Given the description of an element on the screen output the (x, y) to click on. 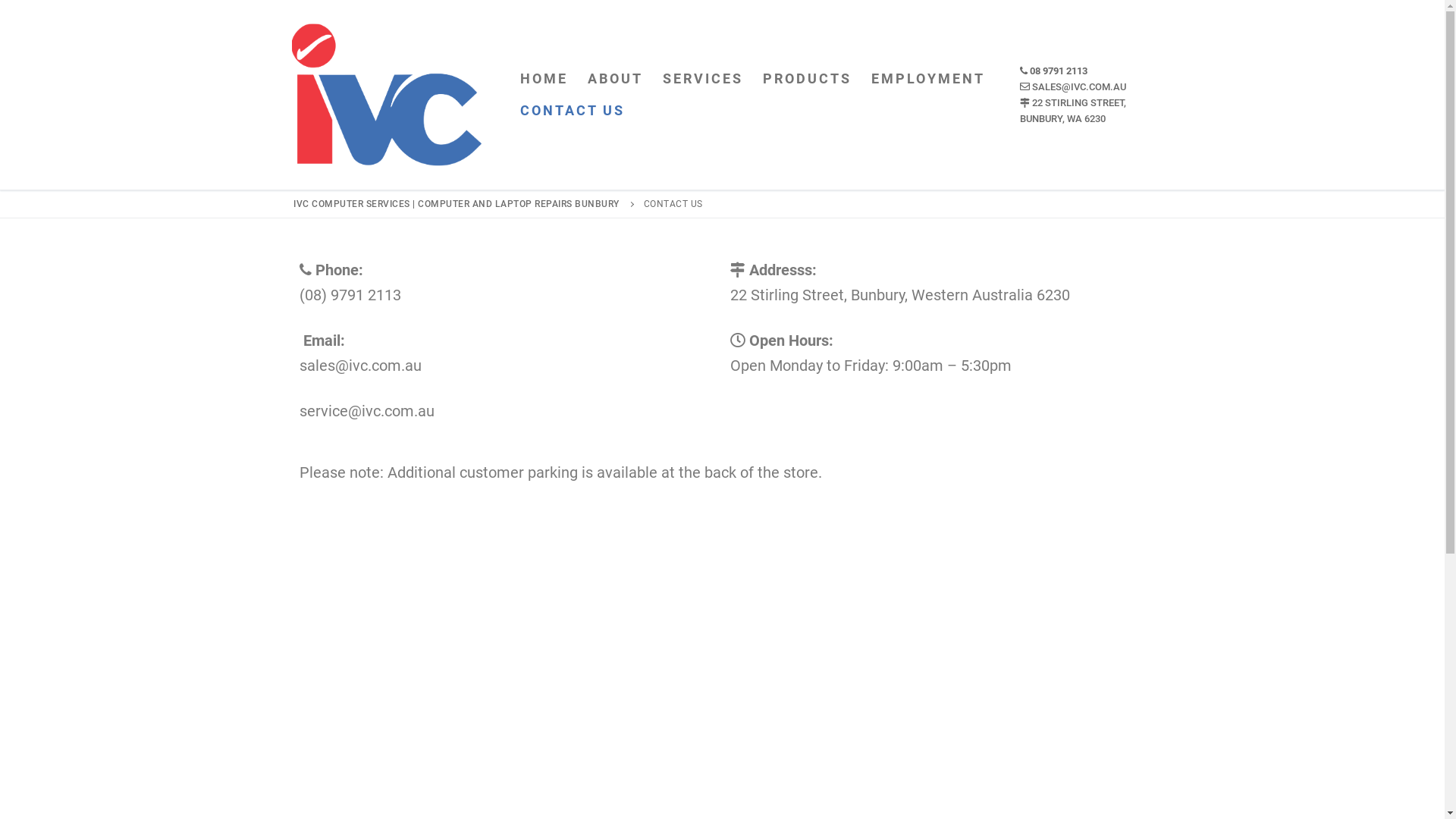
ABOUT Element type: text (614, 78)
HOME Element type: text (543, 78)
SERVICES Element type: text (702, 78)
EMPLOYMENT Element type: text (927, 78)
PRODUCTS Element type: text (806, 78)
IVC COMPUTER SERVICES | COMPUTER AND LAPTOP REPAIRS BUNBURY Element type: text (457, 203)
CONTACT US Element type: text (571, 110)
